Given the description of an element on the screen output the (x, y) to click on. 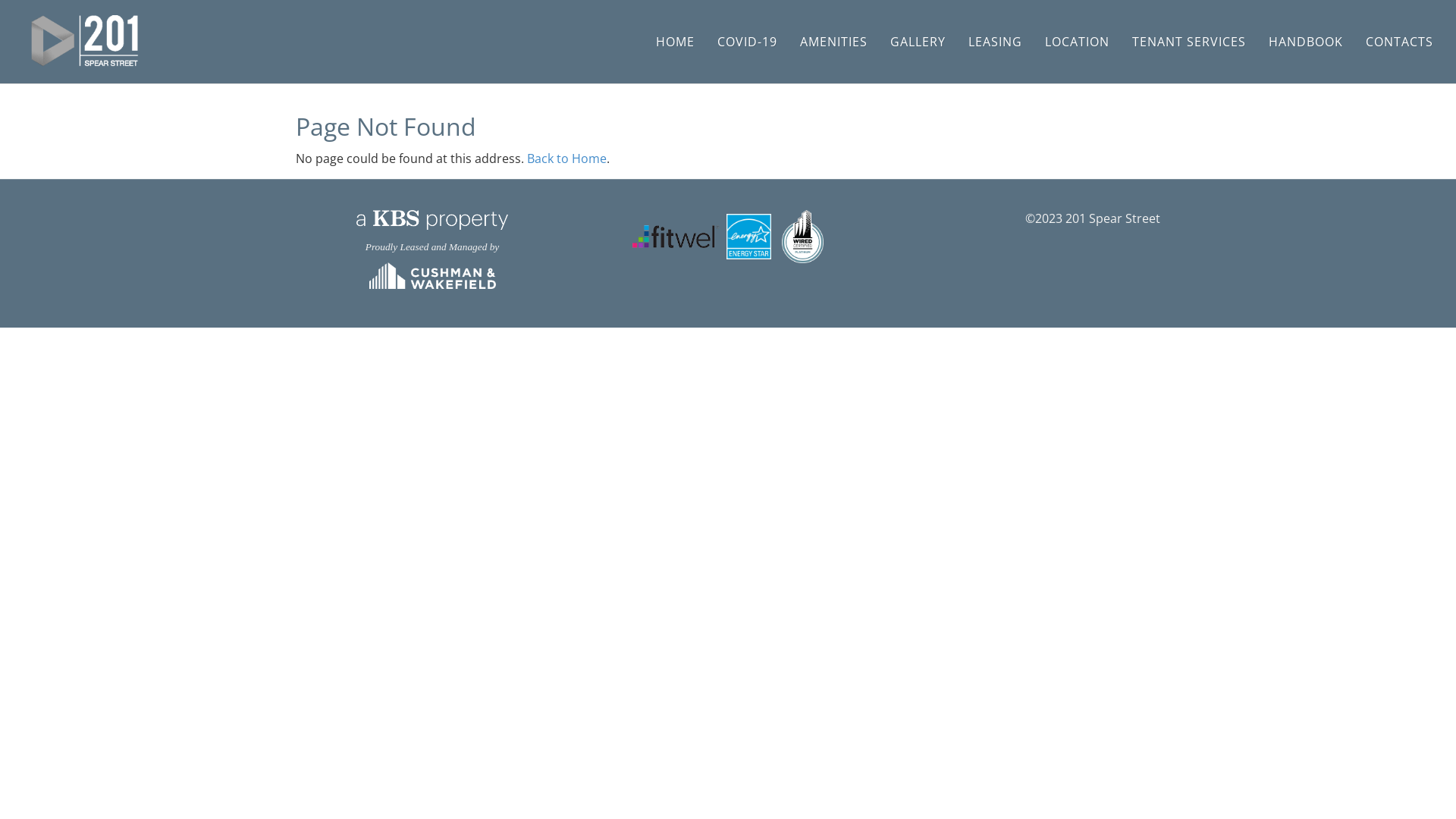
AMENITIES Element type: text (833, 40)
COVID-19 Element type: text (747, 40)
TENANT SERVICES Element type: text (1188, 40)
HANDBOOK Element type: text (1305, 40)
HOME Element type: text (675, 40)
LOCATION Element type: text (1076, 40)
LEASING Element type: text (995, 40)
Back to Home Element type: text (566, 158)
CONTACTS Element type: text (1399, 40)
GALLERY Element type: text (917, 40)
